Given the description of an element on the screen output the (x, y) to click on. 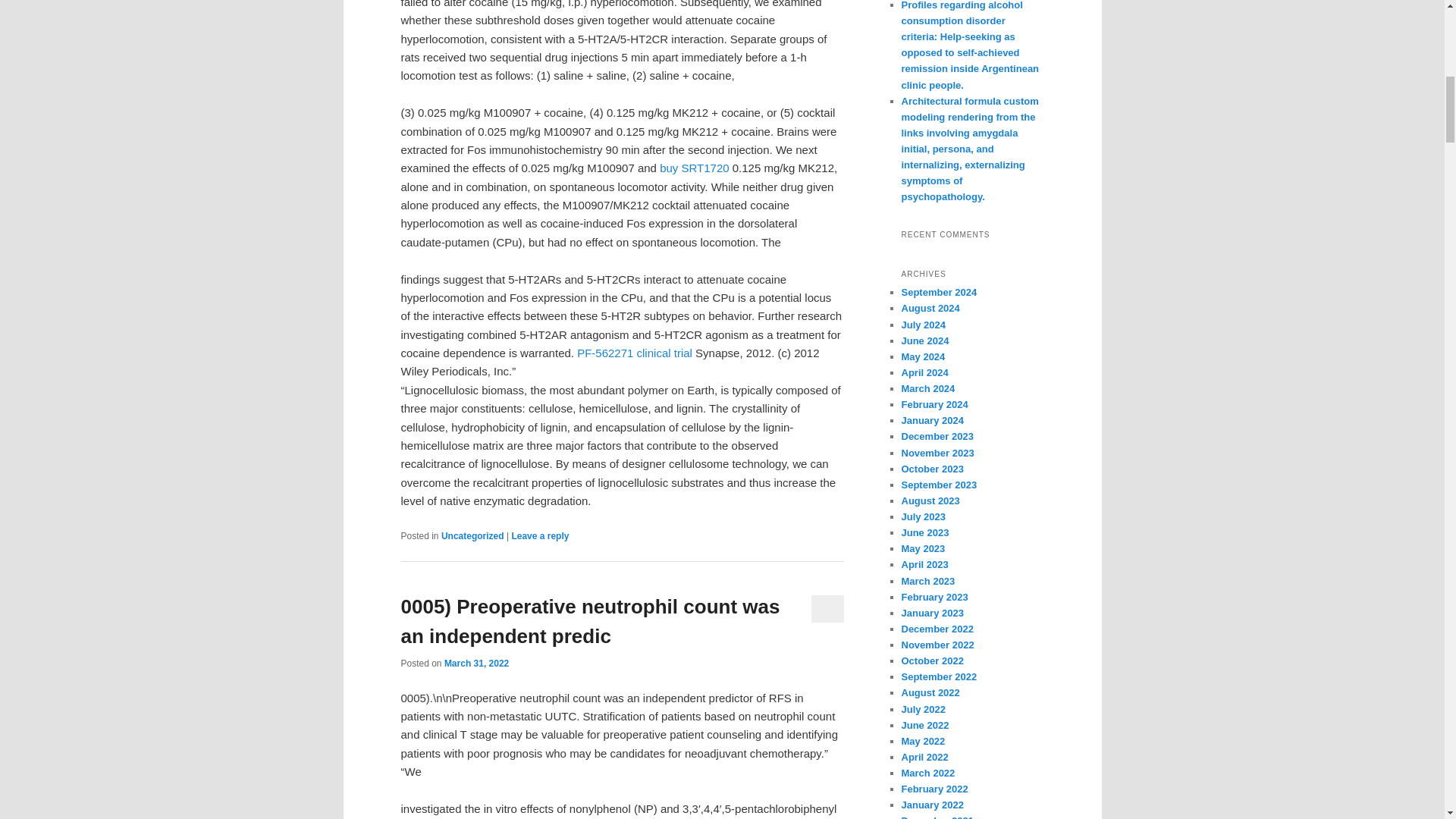
5:08 am (476, 663)
Uncategorized (472, 535)
PF-562271 clinical trial (634, 352)
Leave a reply (540, 535)
March 31, 2022 (476, 663)
View all posts in Uncategorized (472, 535)
buy SRT1720 (694, 167)
